Given the description of an element on the screen output the (x, y) to click on. 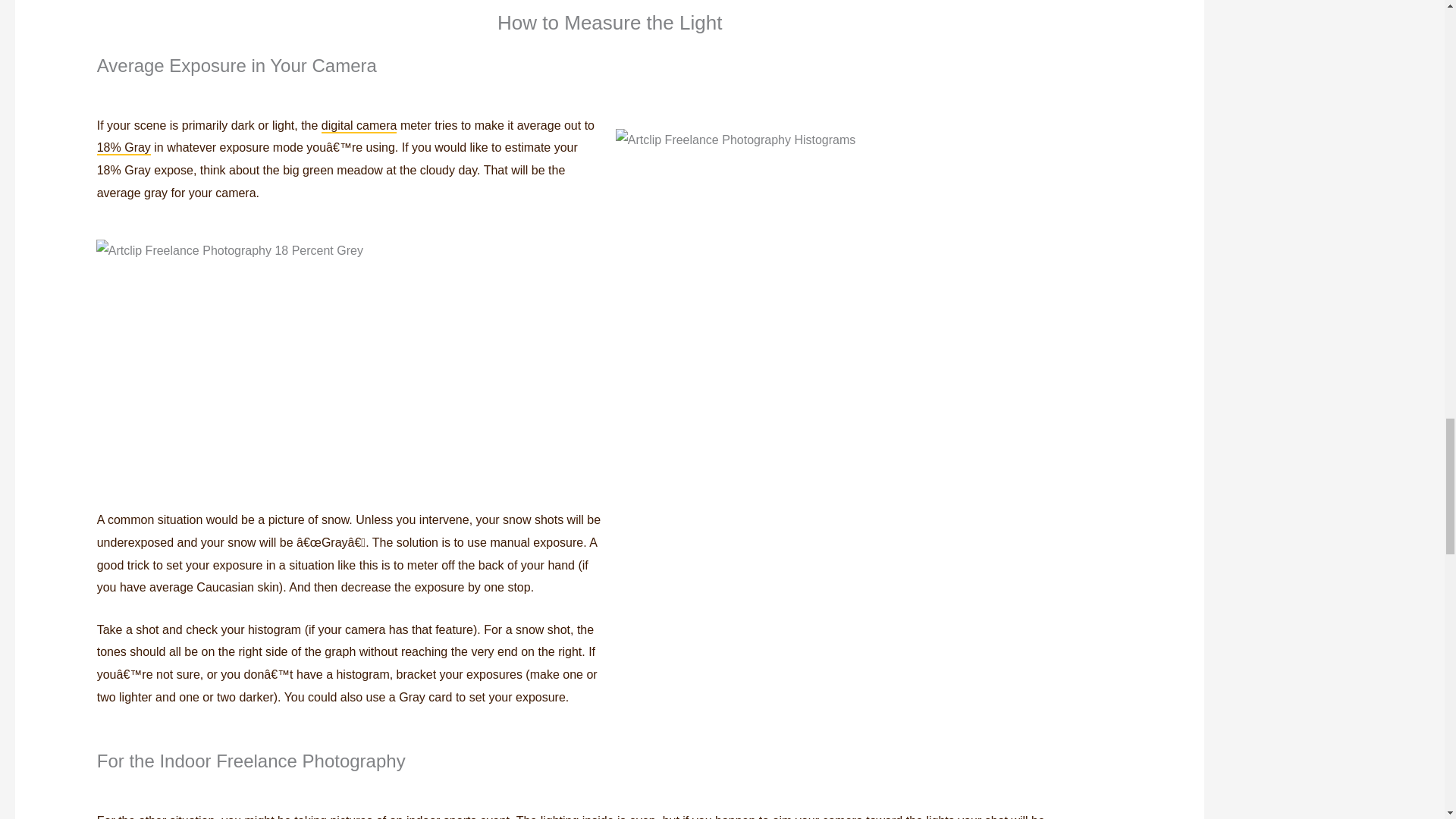
Artclip Freelance Photography 18 Percent Grey (321, 366)
digital camera (359, 125)
